Given the description of an element on the screen output the (x, y) to click on. 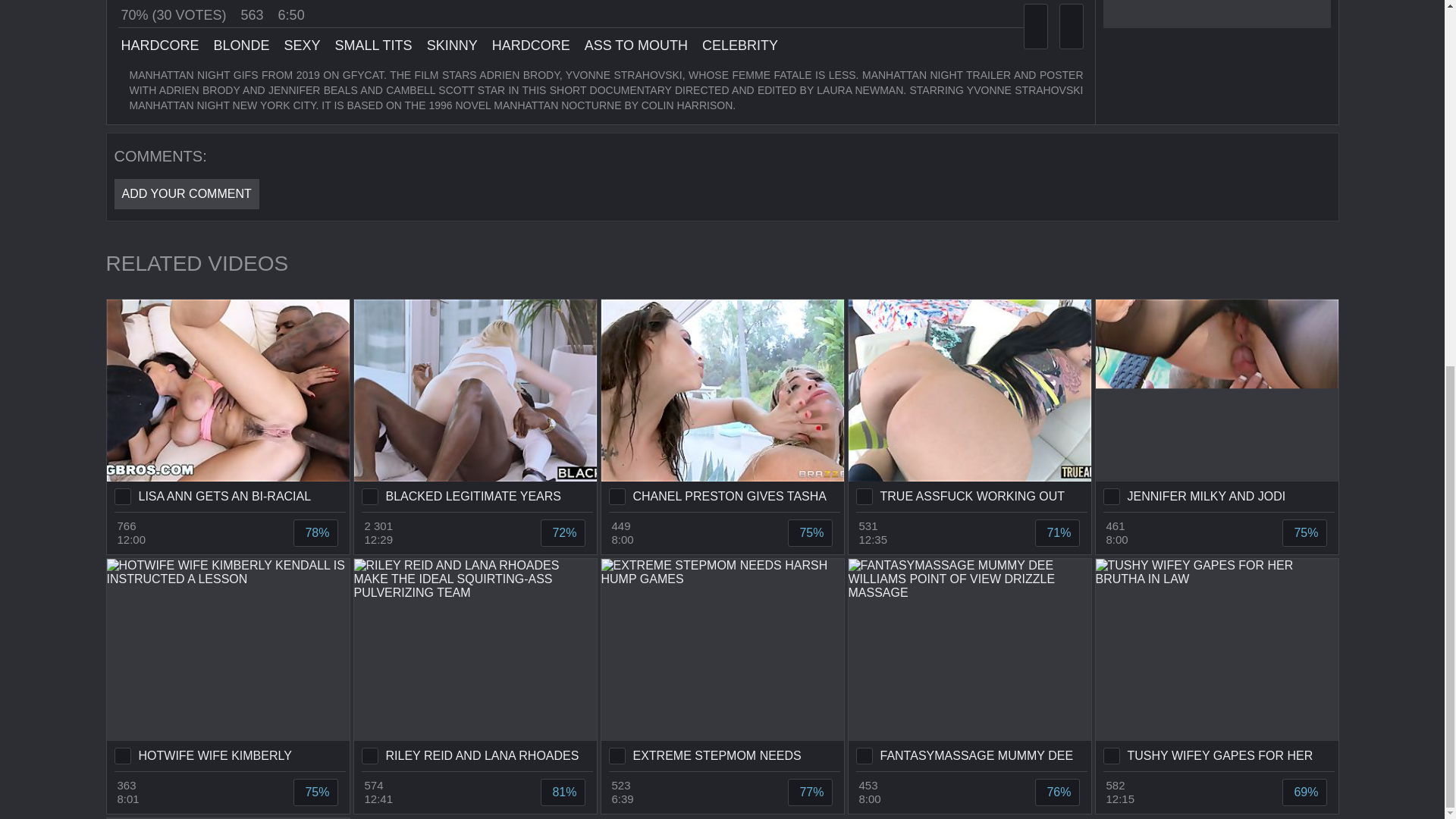
JENNIFER MILKY AND JODI TAYLOR ASS (1216, 405)
SMALL TITS (371, 45)
TUSHY WIFEY GAPES FOR HER BRUTHA IN LAW (1216, 664)
TRUE ASSFUCK WORKING OUT ROMI RAIN'S (968, 405)
CELEBRITY (737, 45)
HARDCORE (158, 45)
BLONDE (240, 45)
EXTREME STEPMOM NEEDS HARSH HUMP GAMES (721, 664)
SKINNY (450, 45)
LISA ANN GETS AN BI-RACIAL DOUBLE (227, 405)
